Given the description of an element on the screen output the (x, y) to click on. 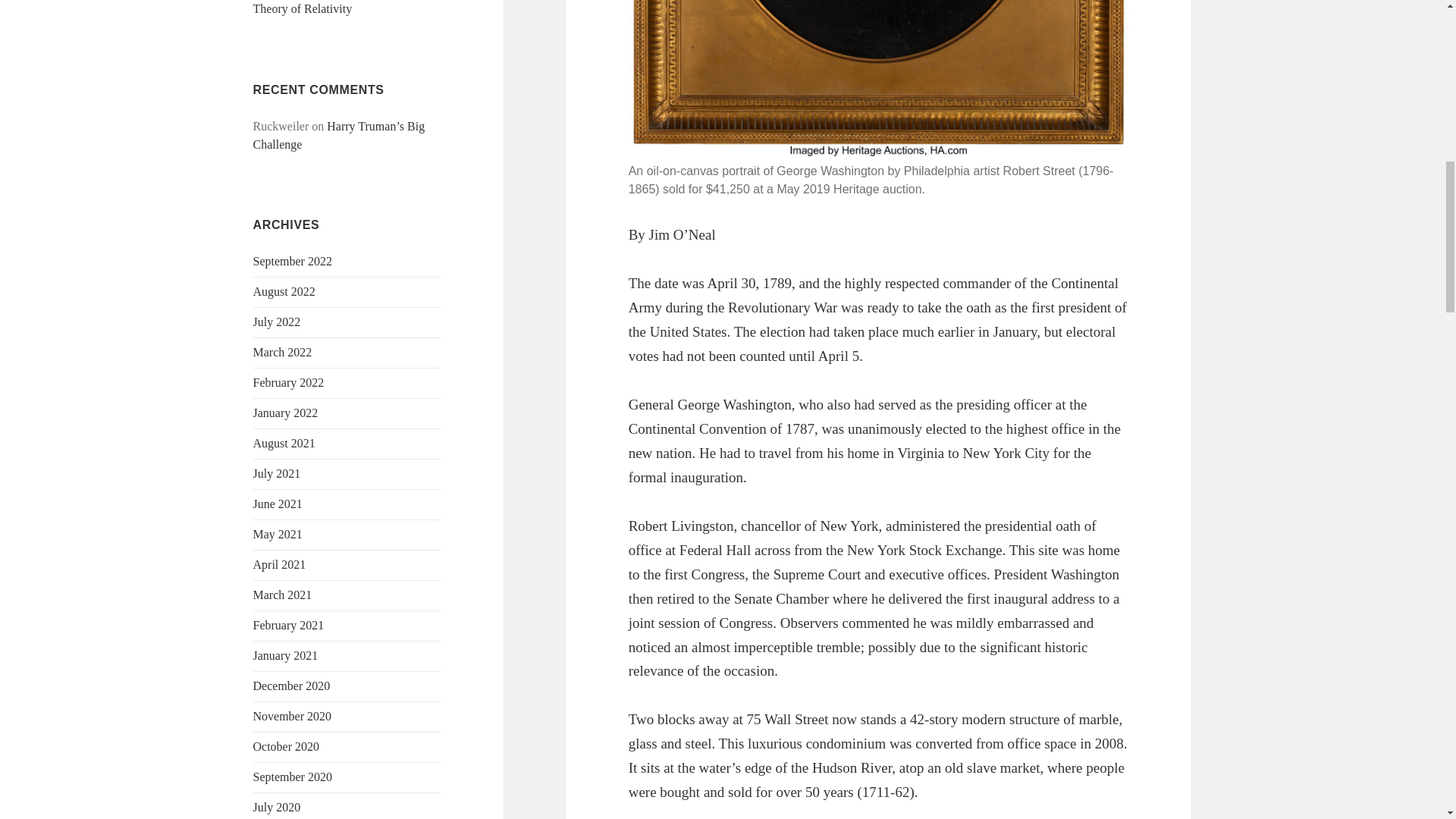
August 2021 (284, 442)
July 2020 (277, 807)
February 2021 (288, 625)
June 2021 (277, 503)
October 2020 (286, 746)
July 2021 (277, 472)
March 2022 (283, 351)
May 2021 (277, 533)
January 2022 (285, 412)
September 2022 (292, 260)
